Given the description of an element on the screen output the (x, y) to click on. 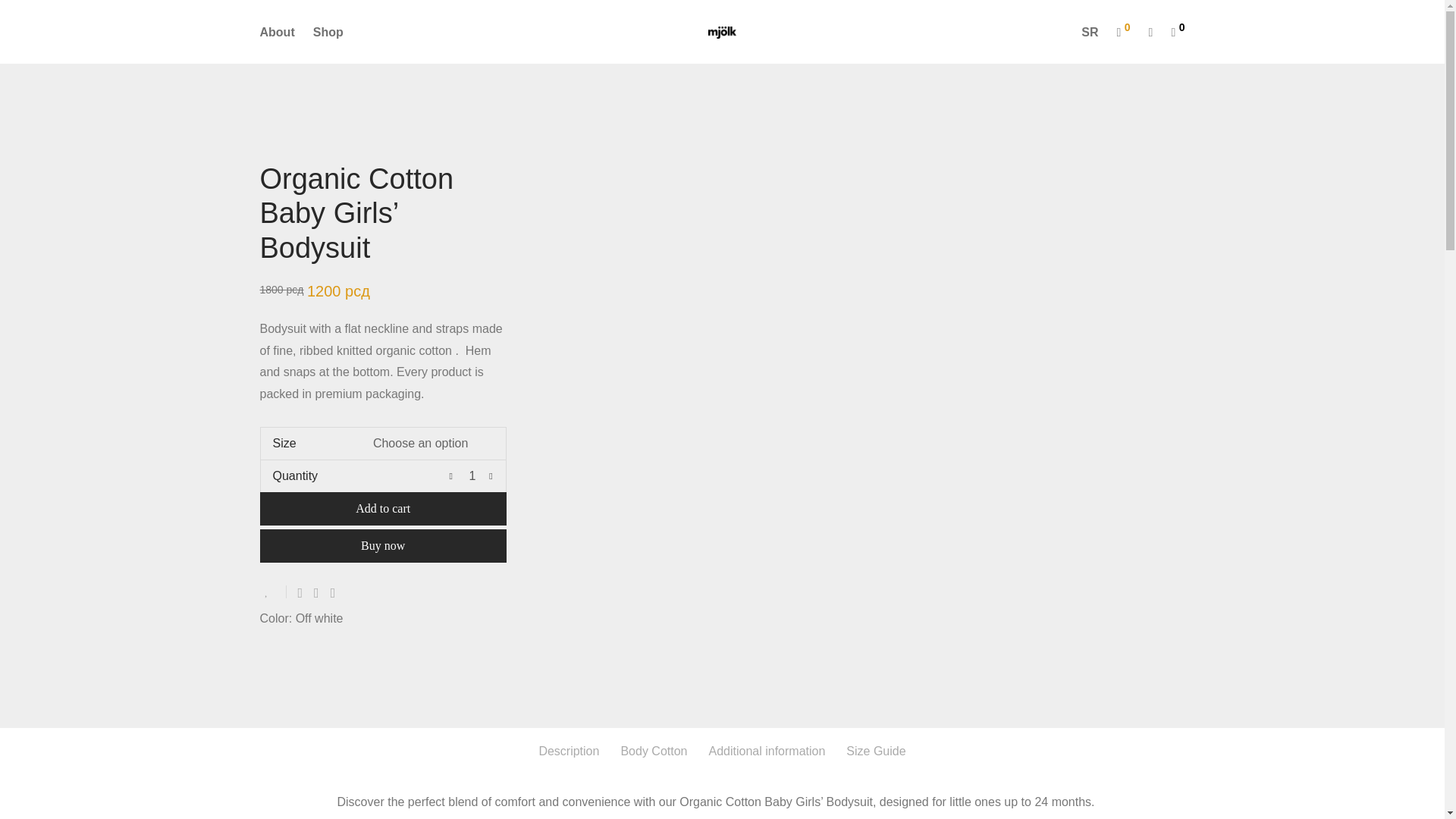
Buy now (382, 545)
Share on Twitter (316, 592)
0 (1122, 32)
Description (568, 752)
Shop (328, 32)
Size Guide (875, 752)
Add to Wishlist (272, 591)
1 (472, 476)
SR (1088, 32)
About (276, 32)
Add to cart (382, 508)
Share on Facebook (299, 592)
Additional information (766, 752)
SR (1088, 32)
Body Cotton (653, 752)
